Given the description of an element on the screen output the (x, y) to click on. 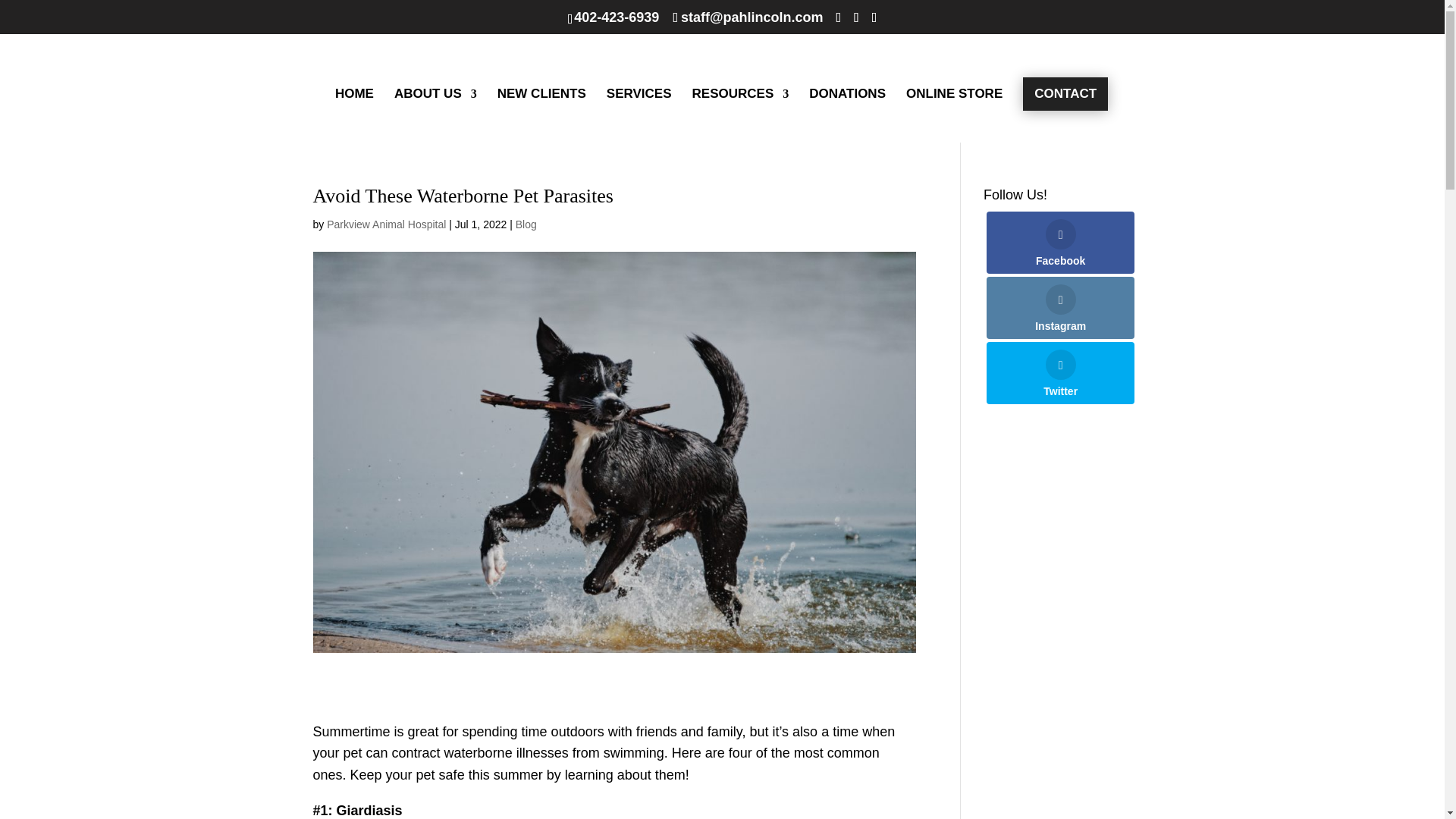
402-423-6939 (616, 16)
CONTACT (1065, 93)
DONATIONS (847, 115)
SERVICES (639, 115)
NEW CLIENTS (541, 115)
Parkview Animal Hospital (385, 224)
ABOUT US (435, 115)
Posts by Parkview Animal Hospital (385, 224)
Instagram (1060, 307)
RESOURCES (741, 115)
ONLINE STORE (954, 115)
Facebook (1060, 242)
Twitter (1060, 373)
Blog (526, 224)
